Given the description of an element on the screen output the (x, y) to click on. 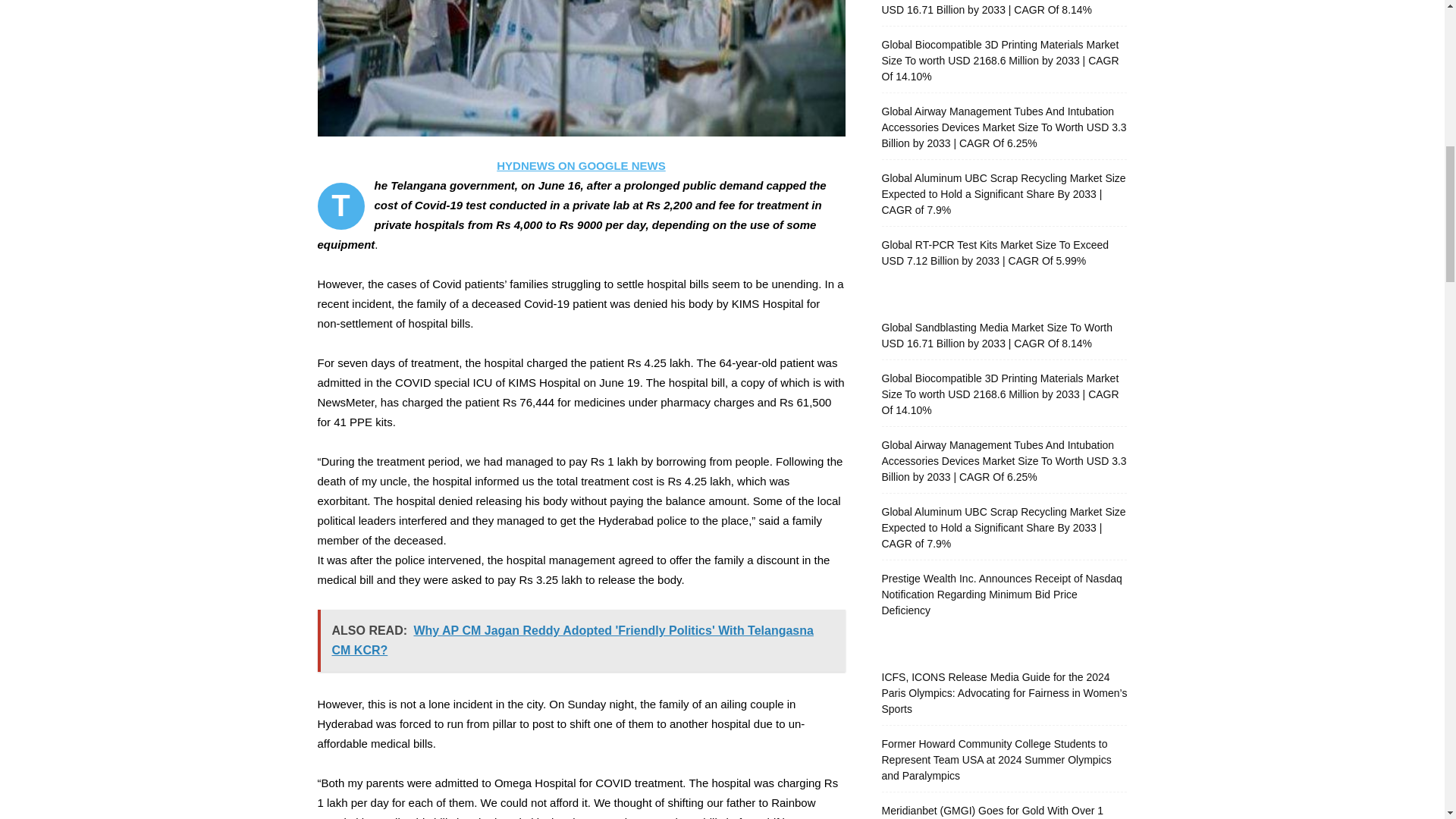
106061834sst1593663504 (580, 68)
